Given the description of an element on the screen output the (x, y) to click on. 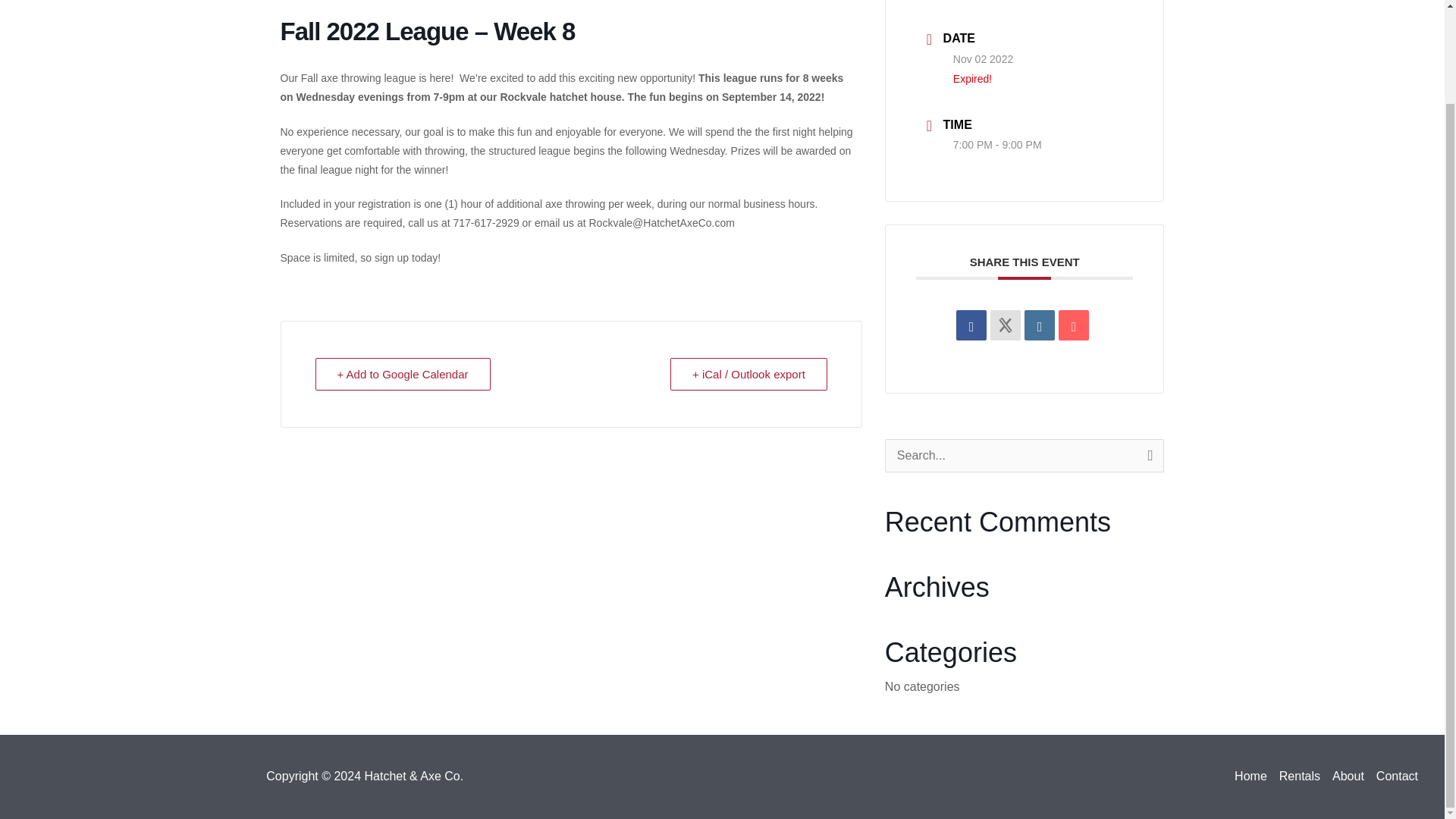
Search (1139, 455)
Contact (1394, 775)
Share on Facebook (971, 325)
Email (1073, 325)
Search (1139, 455)
Linkedin (1039, 325)
Home (1253, 775)
Search (1139, 455)
Rentals (1299, 775)
About (1348, 775)
X Social Network (1005, 325)
